Given the description of an element on the screen output the (x, y) to click on. 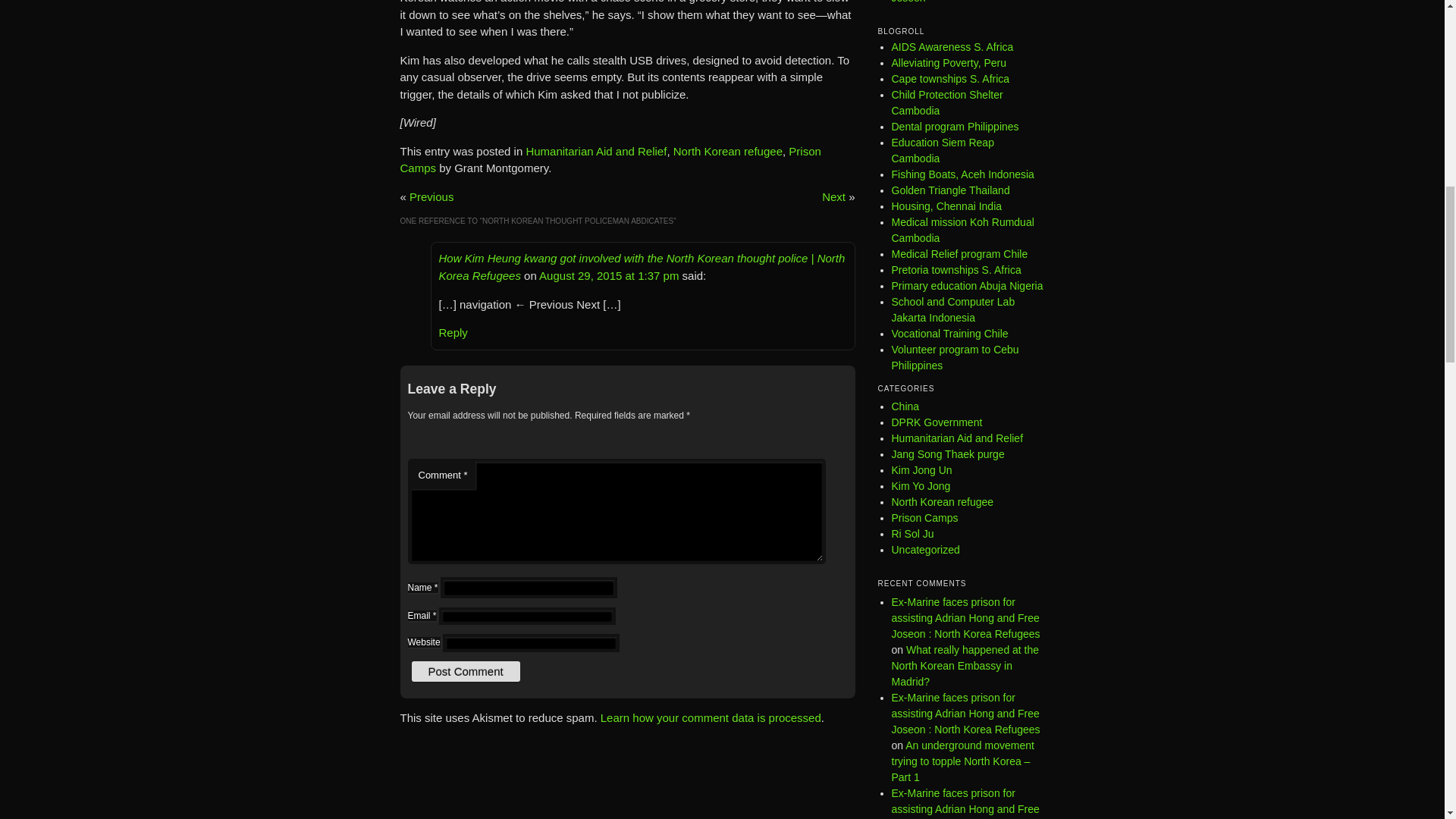
Education Siem Reap Cambodia (942, 150)
Child Protection Shelter Cambodia (947, 102)
Reply (452, 333)
Dental program Philippines (955, 126)
North Korean refugee (727, 151)
Learn how your comment data is processed (710, 717)
Previous (430, 196)
Humanitarian Aid and Relief (595, 151)
August 29, 2015 at 1:37 pm (608, 275)
Next (833, 196)
Alleviating Poverty, Peru (948, 62)
Fishing Boats, Aceh Indonesia (962, 174)
Cape townships S. Africa (950, 78)
AIDS Awareness S. Africa (952, 46)
